Given the description of an element on the screen output the (x, y) to click on. 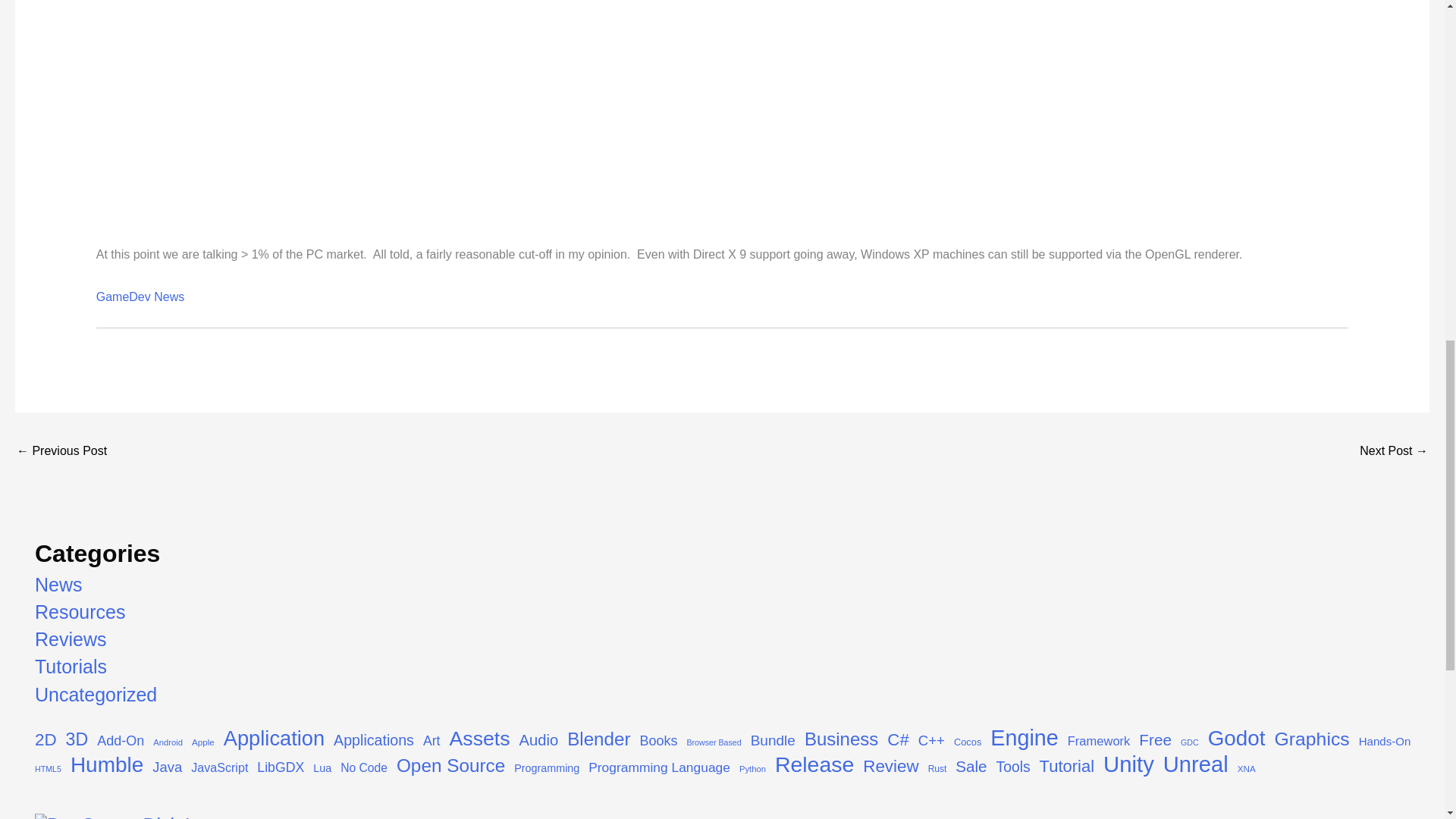
Tutorials (70, 666)
Uncategorized (95, 694)
Apple (203, 742)
Android (167, 742)
Unity 2017.1 Officially Released (1393, 452)
News (58, 584)
3D (76, 740)
Resources (79, 611)
Reviews (70, 639)
Add-On (120, 741)
